Given the description of an element on the screen output the (x, y) to click on. 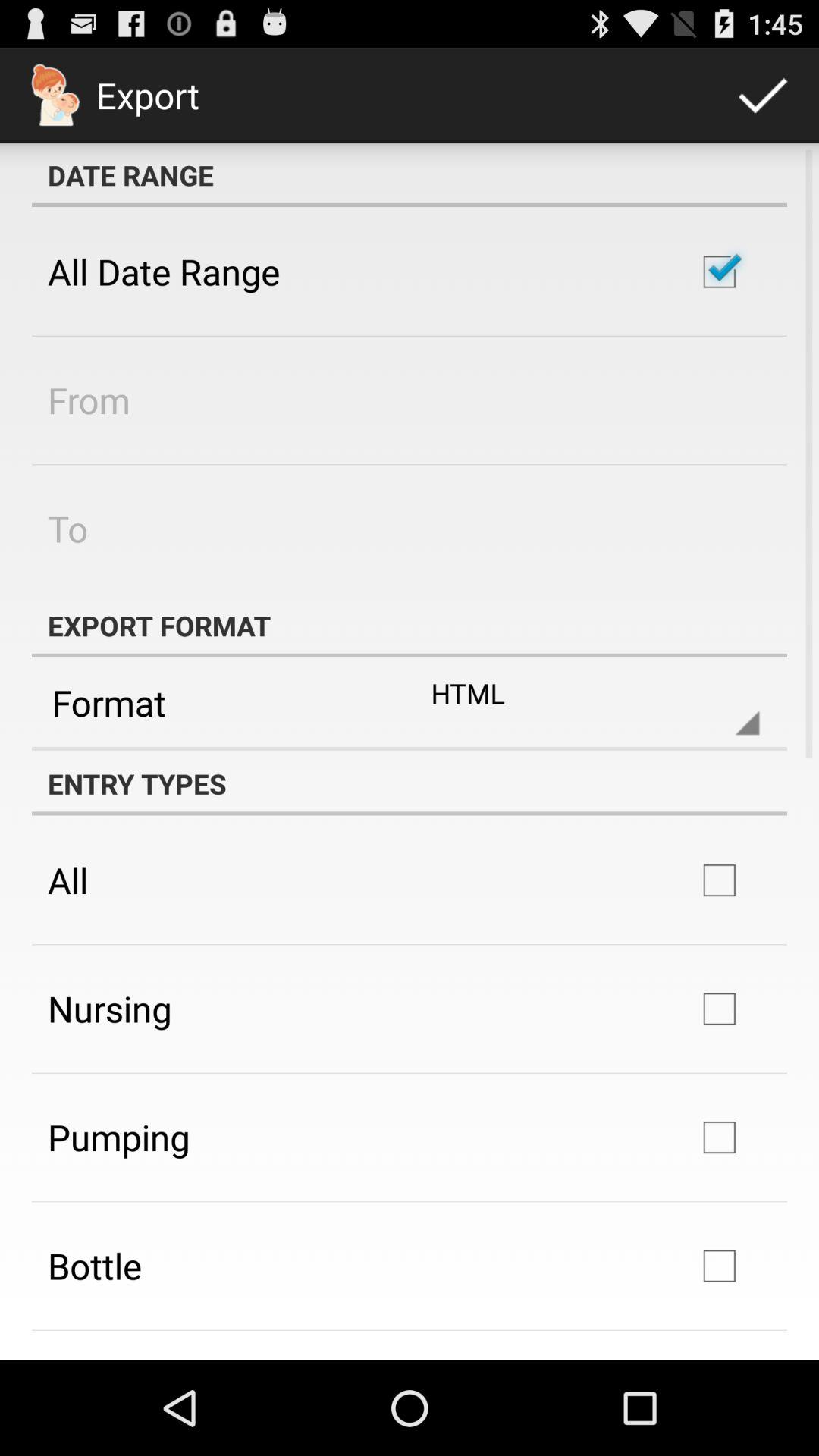
turn on html item (583, 702)
